Given the description of an element on the screen output the (x, y) to click on. 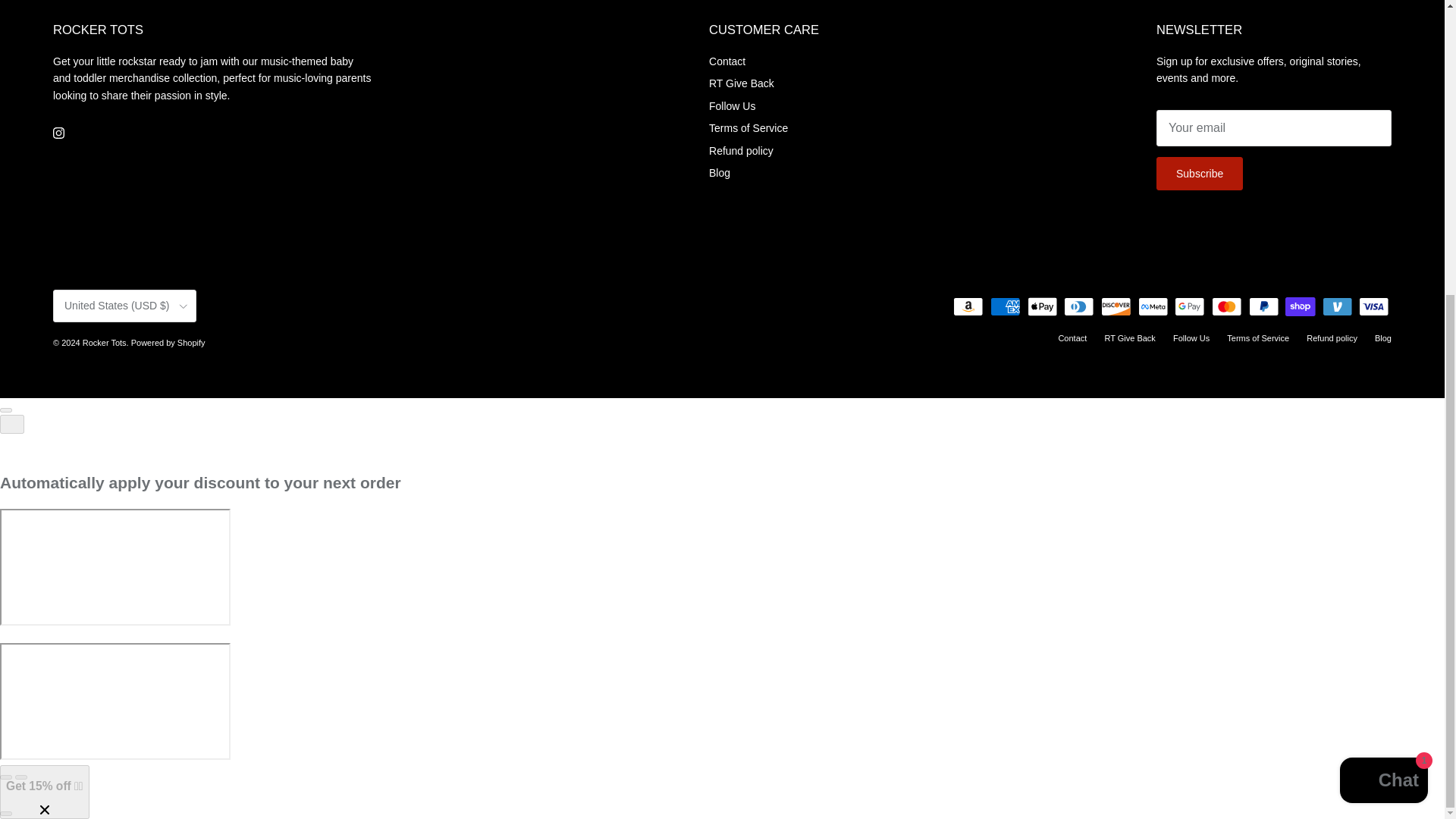
Discover (1115, 306)
Shopify online store chat (1383, 327)
American Express (1005, 306)
Apple Pay (1042, 306)
Diners Club (1078, 306)
Meta Pay (1152, 306)
Amazon (967, 306)
PayPal (1262, 306)
Shop Pay (1299, 306)
Rocker Tots on Instagram (58, 132)
Google Pay (1189, 306)
Mastercard (1226, 306)
